Given the description of an element on the screen output the (x, y) to click on. 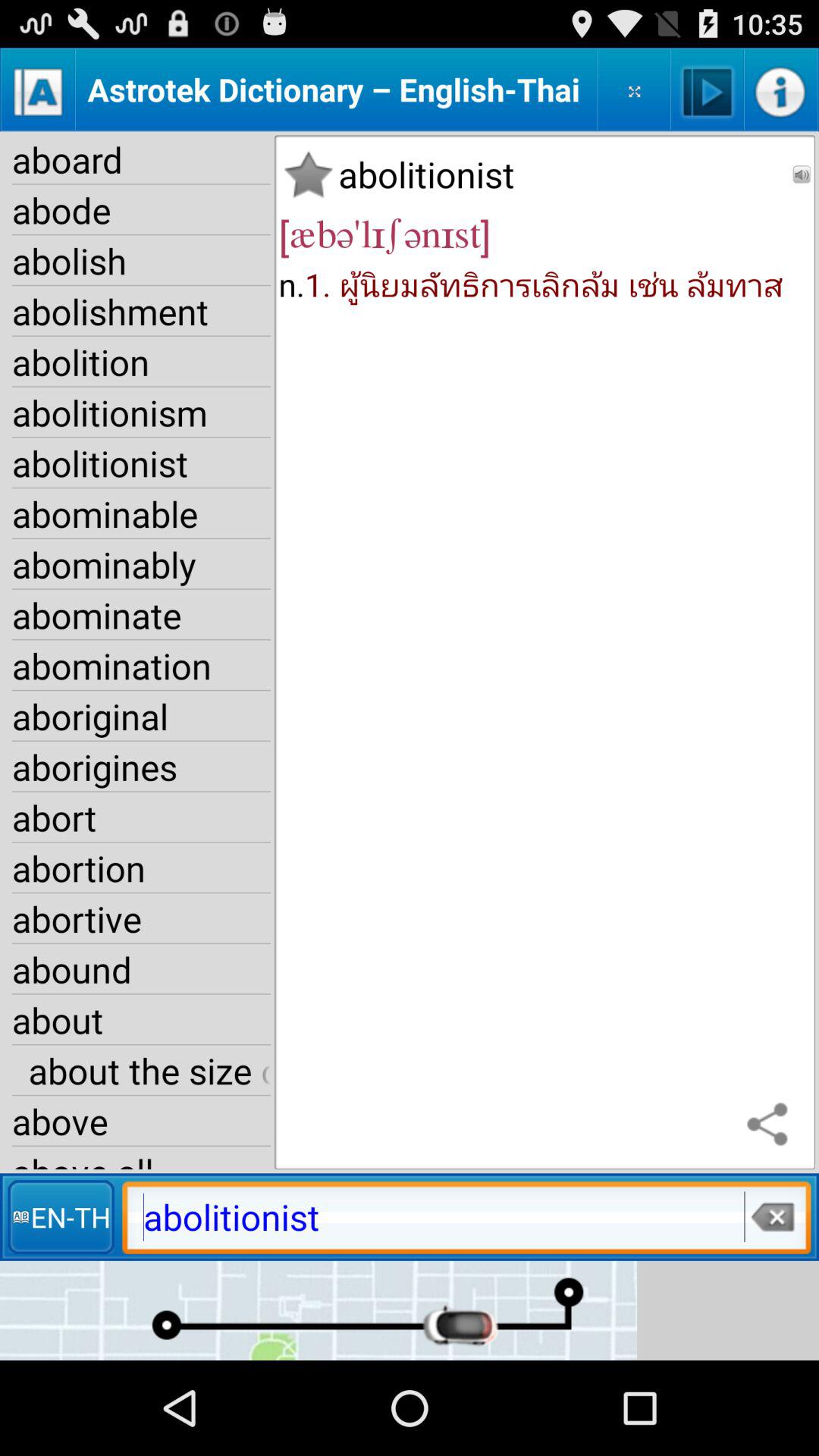
launch app above [ icon (308, 174)
